Given the description of an element on the screen output the (x, y) to click on. 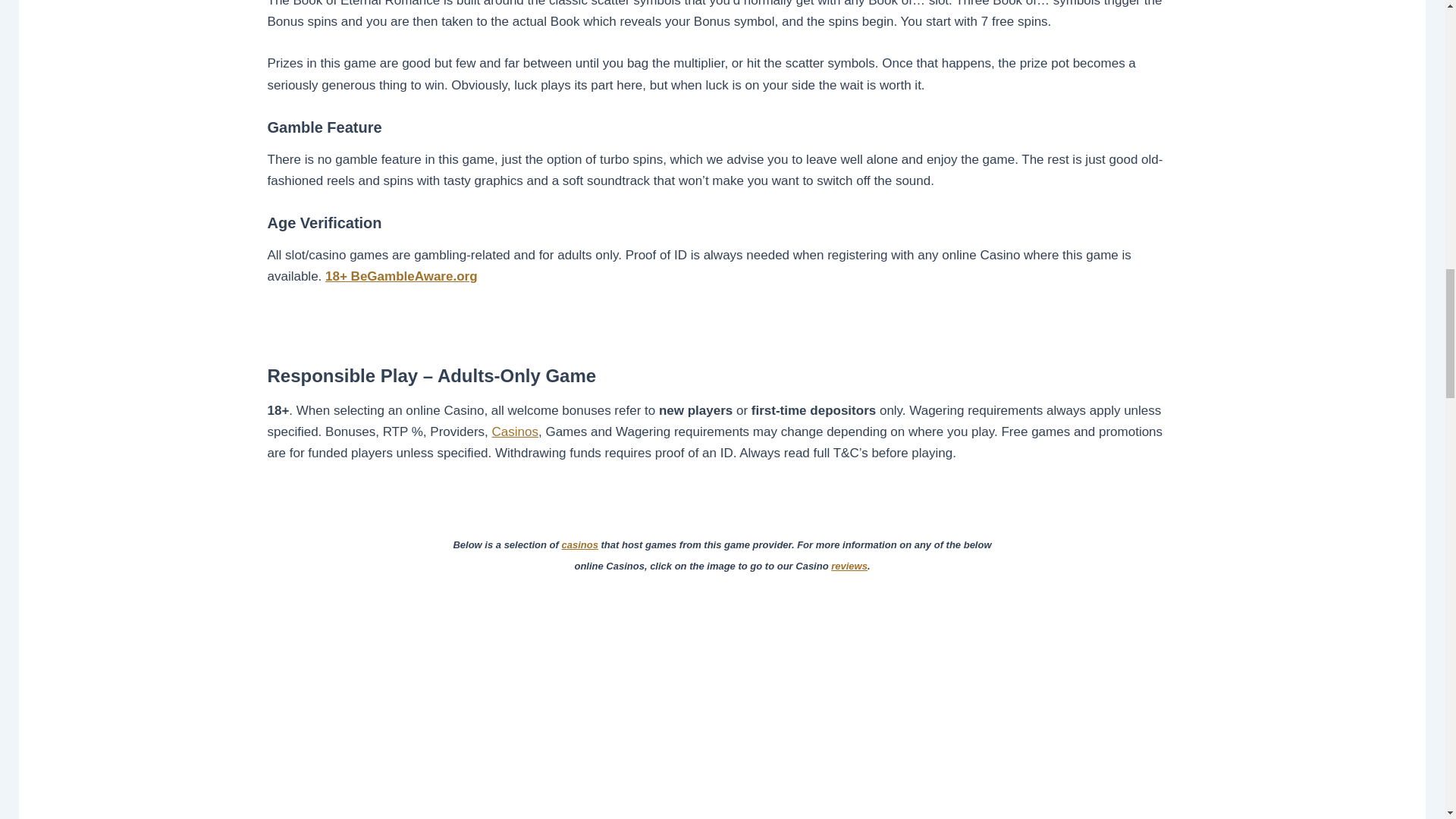
casinos (578, 544)
Casinos (515, 431)
reviews (849, 565)
